Given the description of an element on the screen output the (x, y) to click on. 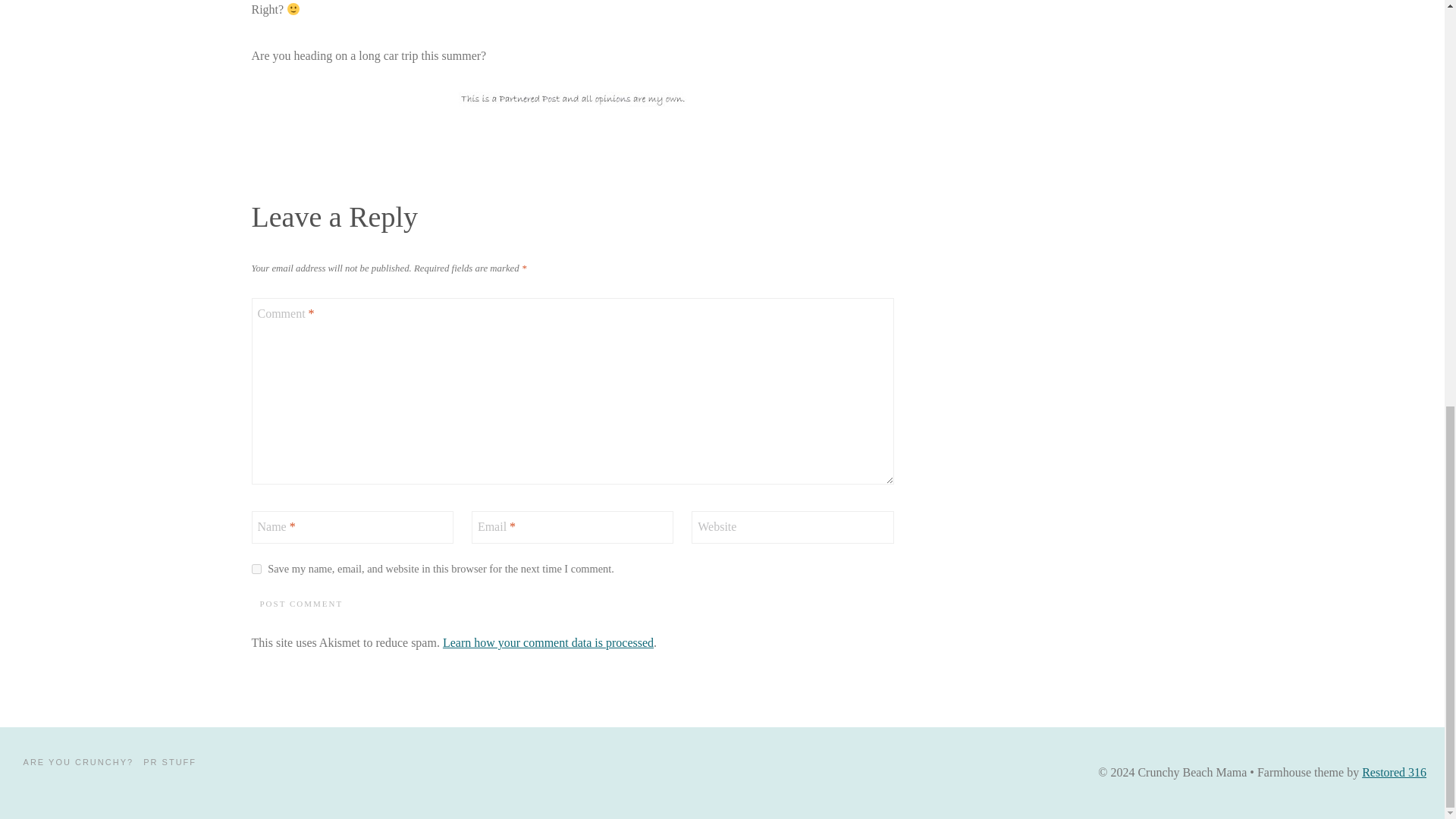
yes (256, 569)
disclosure (571, 99)
Post Comment (301, 604)
PR STUFF (170, 762)
ARE YOU CRUNCHY? (77, 762)
Learn how your comment data is processed (547, 642)
Restored 316 (1393, 771)
Post Comment (301, 604)
